Given the description of an element on the screen output the (x, y) to click on. 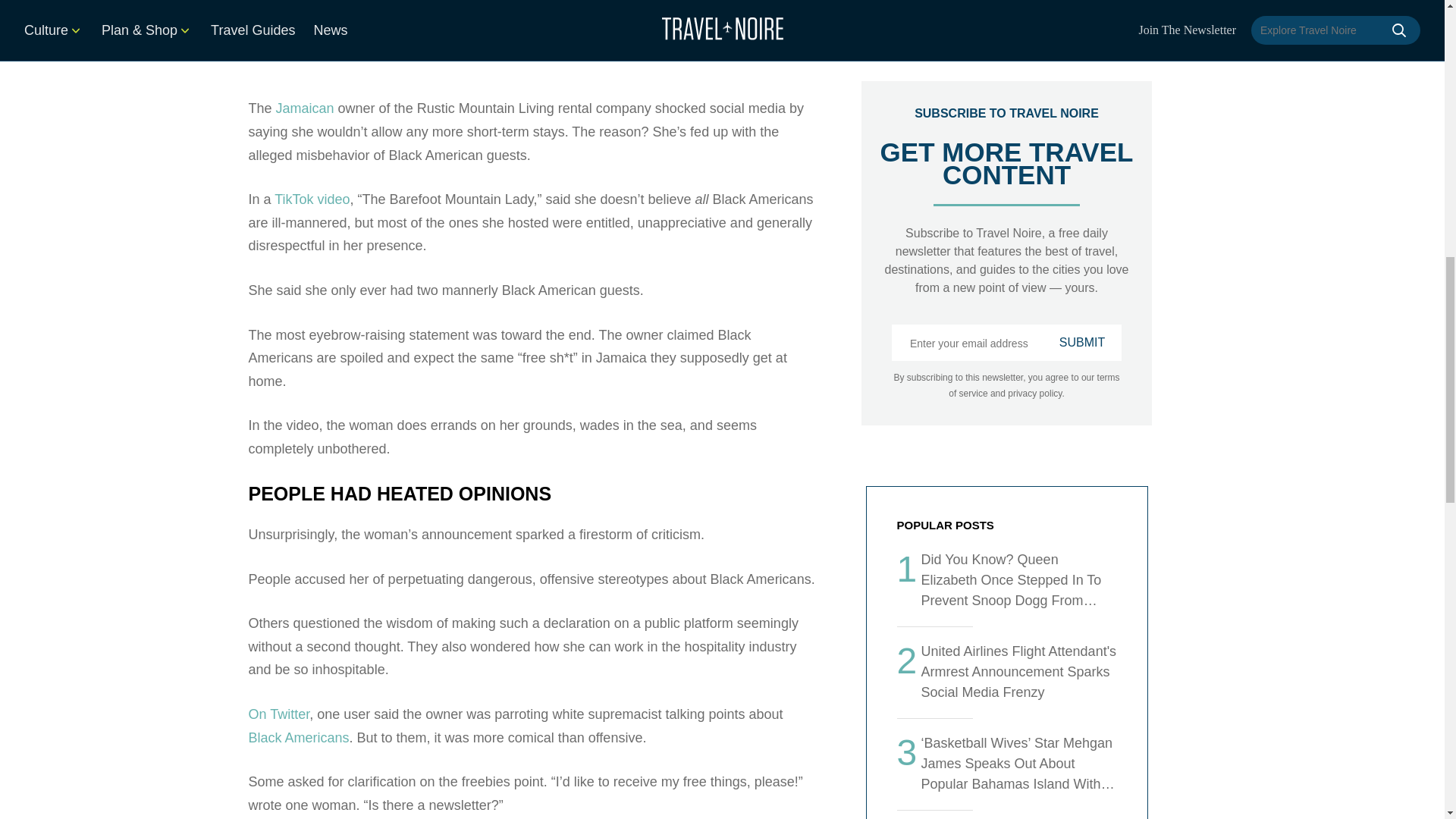
Black Americans (298, 712)
SUBMIT (1081, 342)
Jamaican (305, 83)
On Twitter (279, 688)
TikTok video (312, 174)
